Given the description of an element on the screen output the (x, y) to click on. 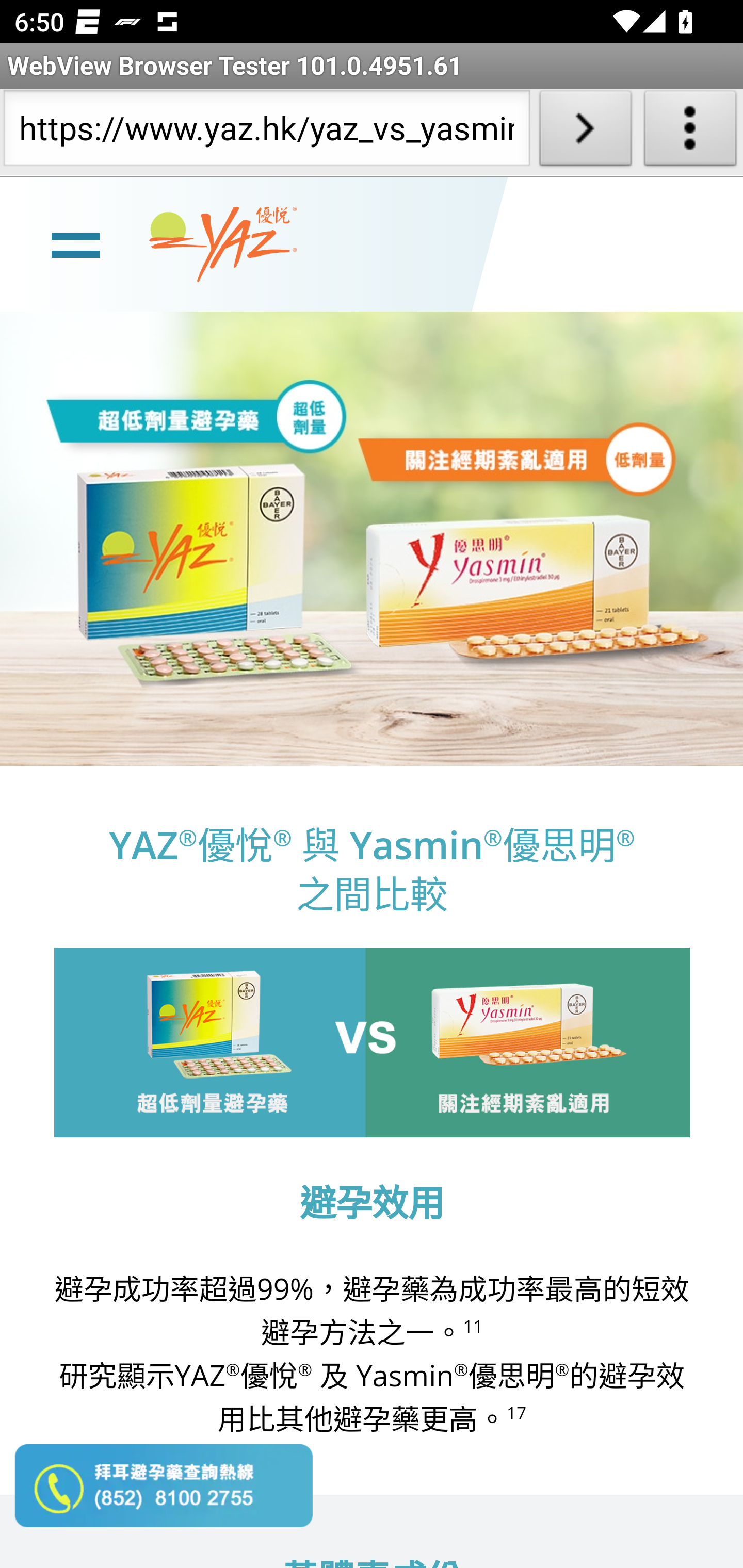
Load URL (585, 132)
About WebView (690, 132)
www.yaz (222, 244)
line Toggle burger menu (75, 242)
